Given the description of an element on the screen output the (x, y) to click on. 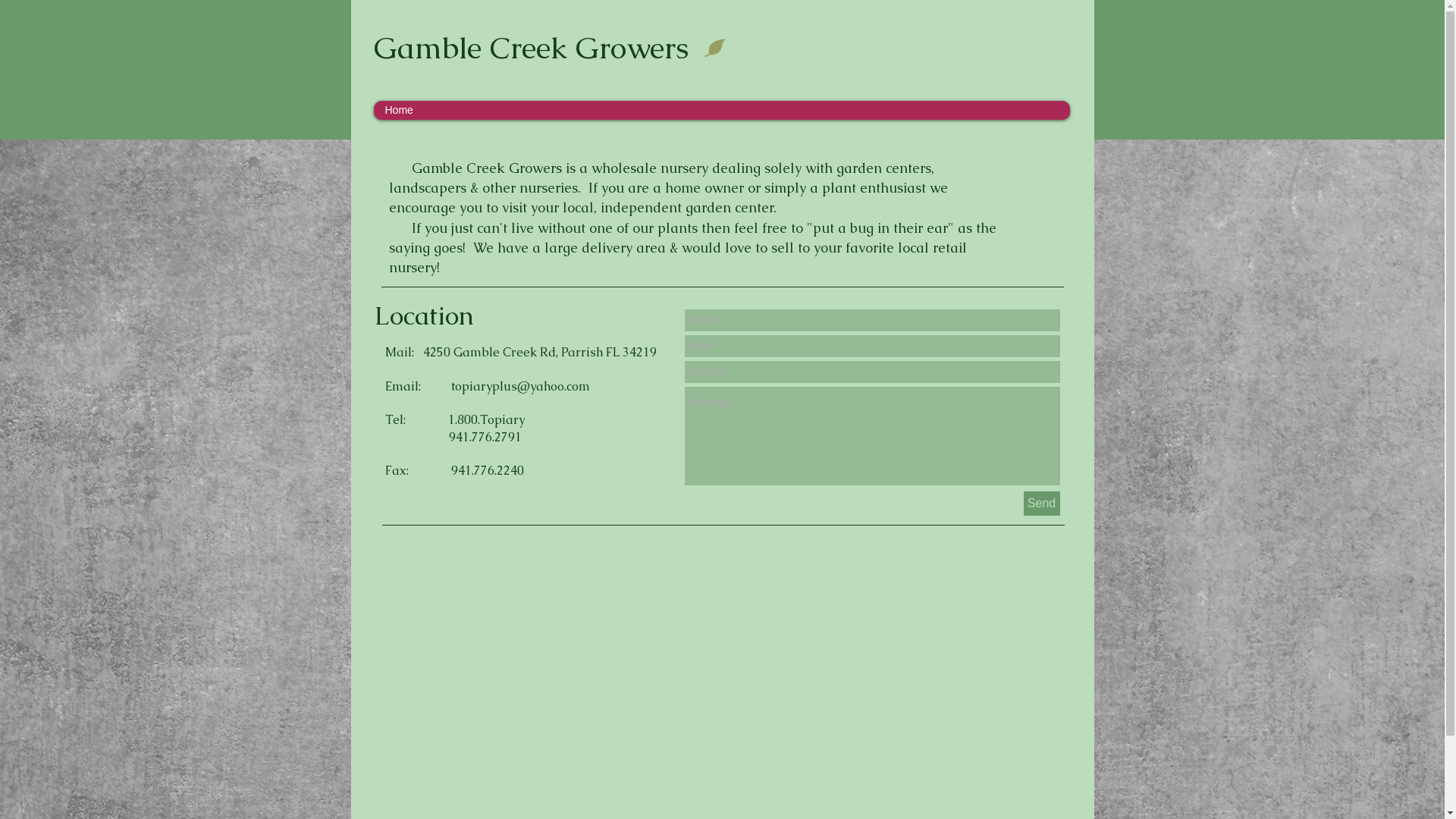
Send Element type: text (1041, 503)
Home Element type: text (721, 109)
topiaryplus@yahoo.com Element type: text (519, 385)
